Given the description of an element on the screen output the (x, y) to click on. 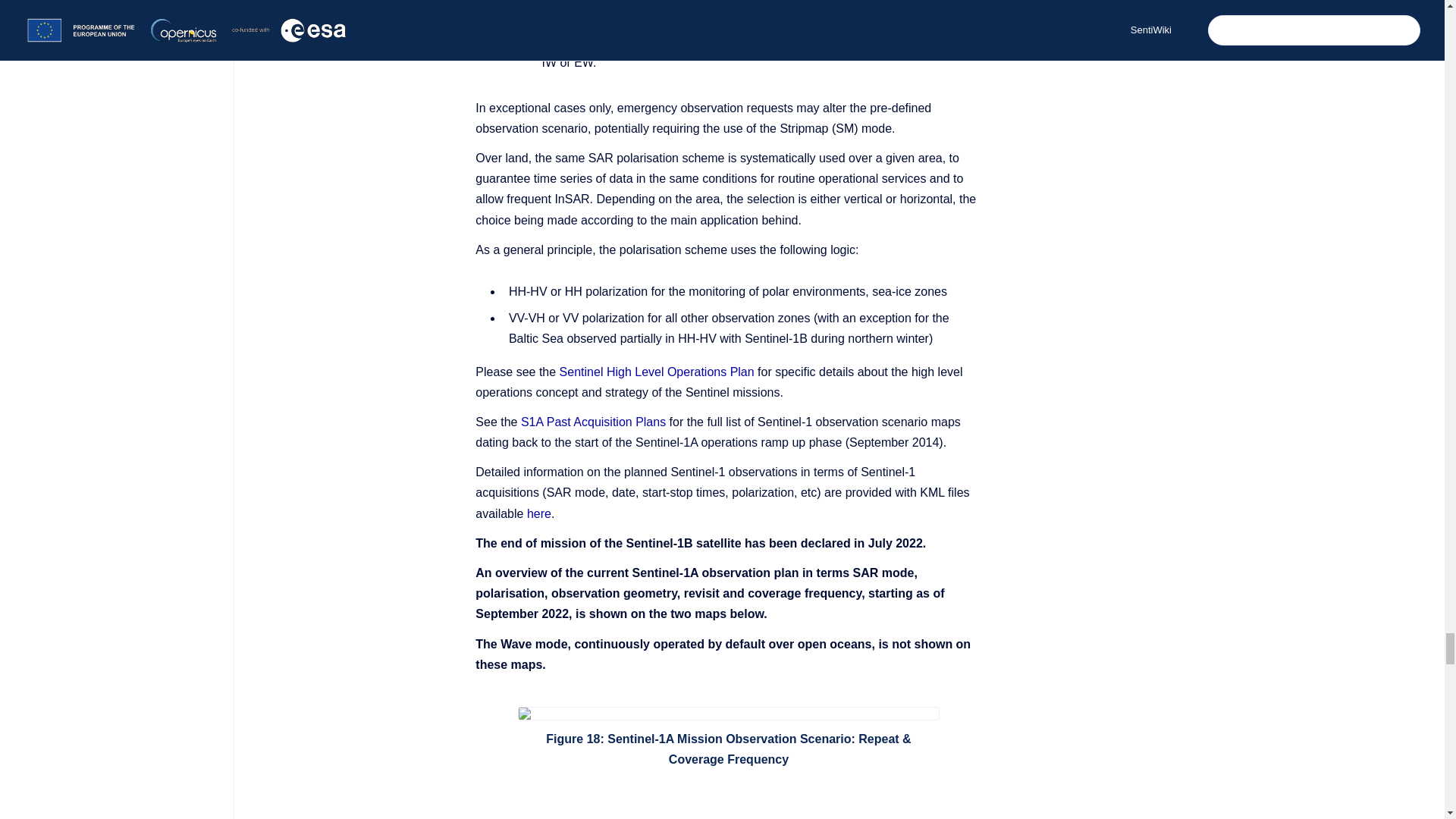
here (539, 513)
S1A Past Acquisition Plans (593, 421)
Sentinel High Level Operations Plan (656, 371)
